Given the description of an element on the screen output the (x, y) to click on. 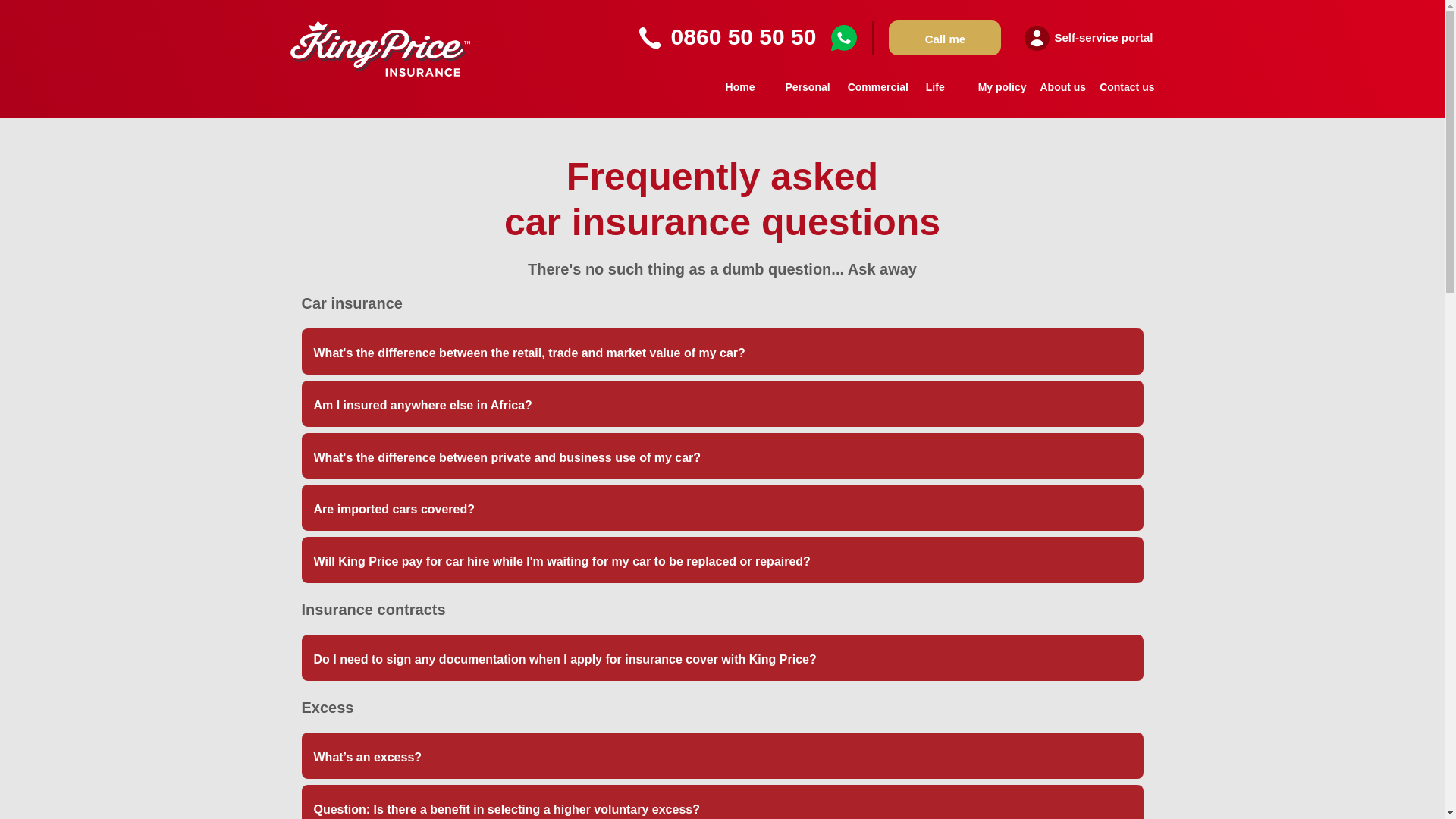
Call me (944, 37)
Chat to us on Whatsapp (844, 37)
Self-service portal (1088, 37)
Call us today! (650, 37)
Call us today! (743, 37)
Personal (809, 92)
Home (740, 92)
Self-service portal login (1088, 37)
